Given the description of an element on the screen output the (x, y) to click on. 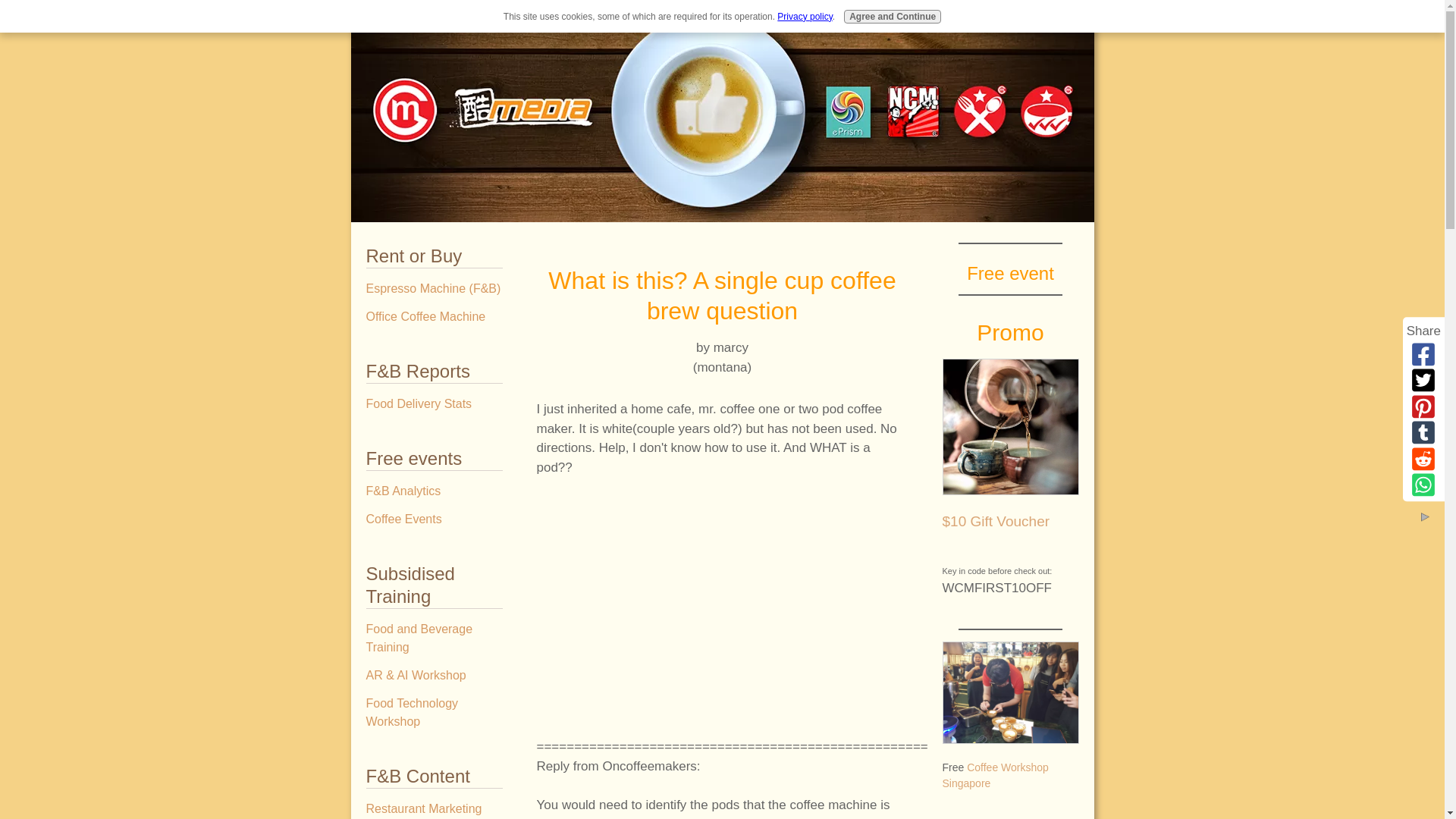
Food and Beverage Training (433, 638)
Restaurant Marketing (433, 807)
Coffee Events (433, 519)
Food Delivery Stats (433, 403)
Advertisement (721, 624)
Food Technology Workshop (433, 712)
Office Coffee Machine (433, 316)
